Given the description of an element on the screen output the (x, y) to click on. 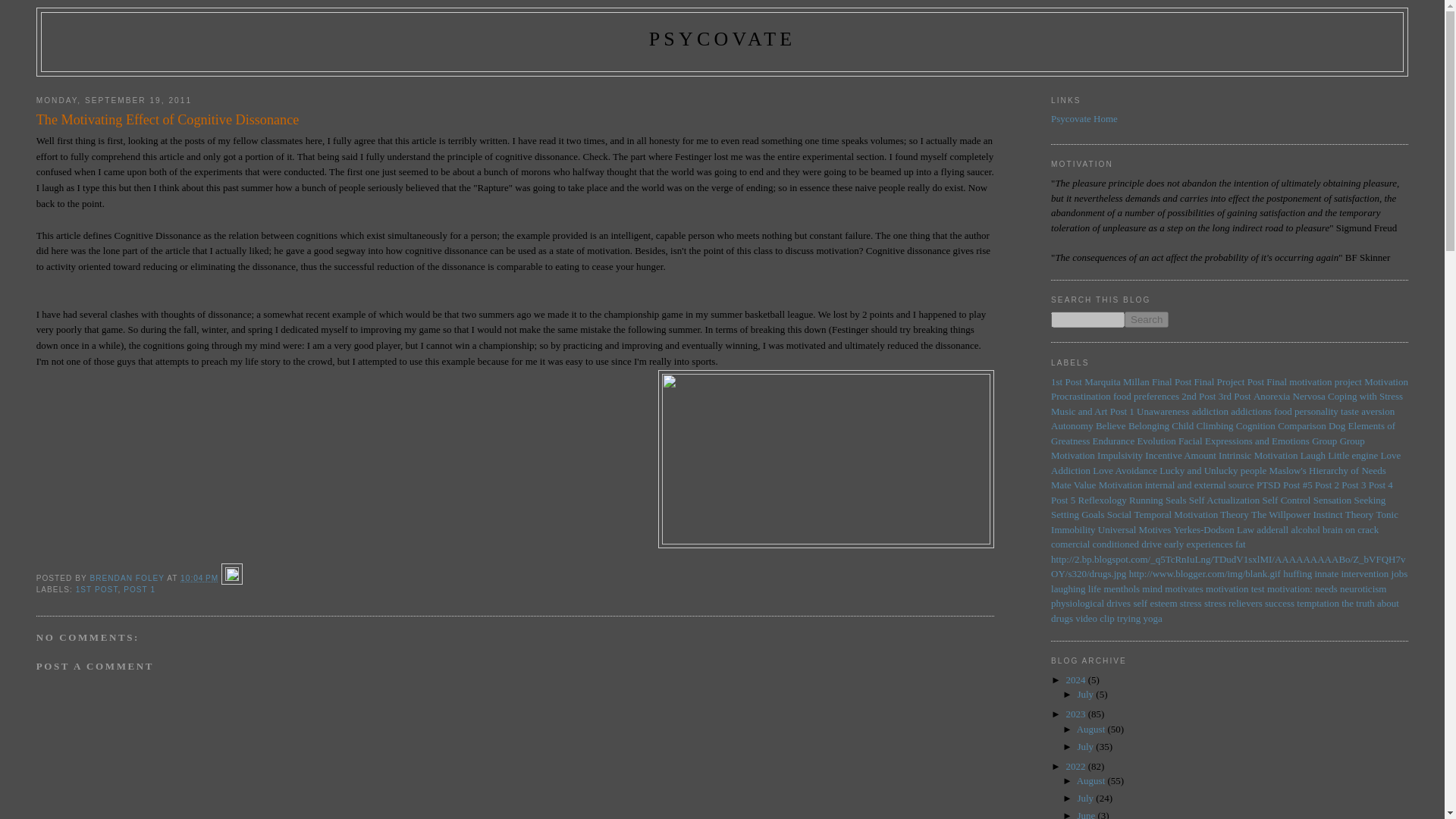
food preferences (1146, 396)
1ST POST (96, 589)
food (1283, 410)
Unawareness (1163, 410)
Final Post (1171, 381)
Search (1146, 319)
Motivation (1385, 381)
Music and Art (1078, 410)
Final Project Post (1228, 381)
Coping with Stress (1365, 396)
Search (1146, 319)
Anorexia Nervosa (1288, 396)
permanent link (199, 578)
search (1146, 319)
Autonomy (1072, 425)
